Given the description of an element on the screen output the (x, y) to click on. 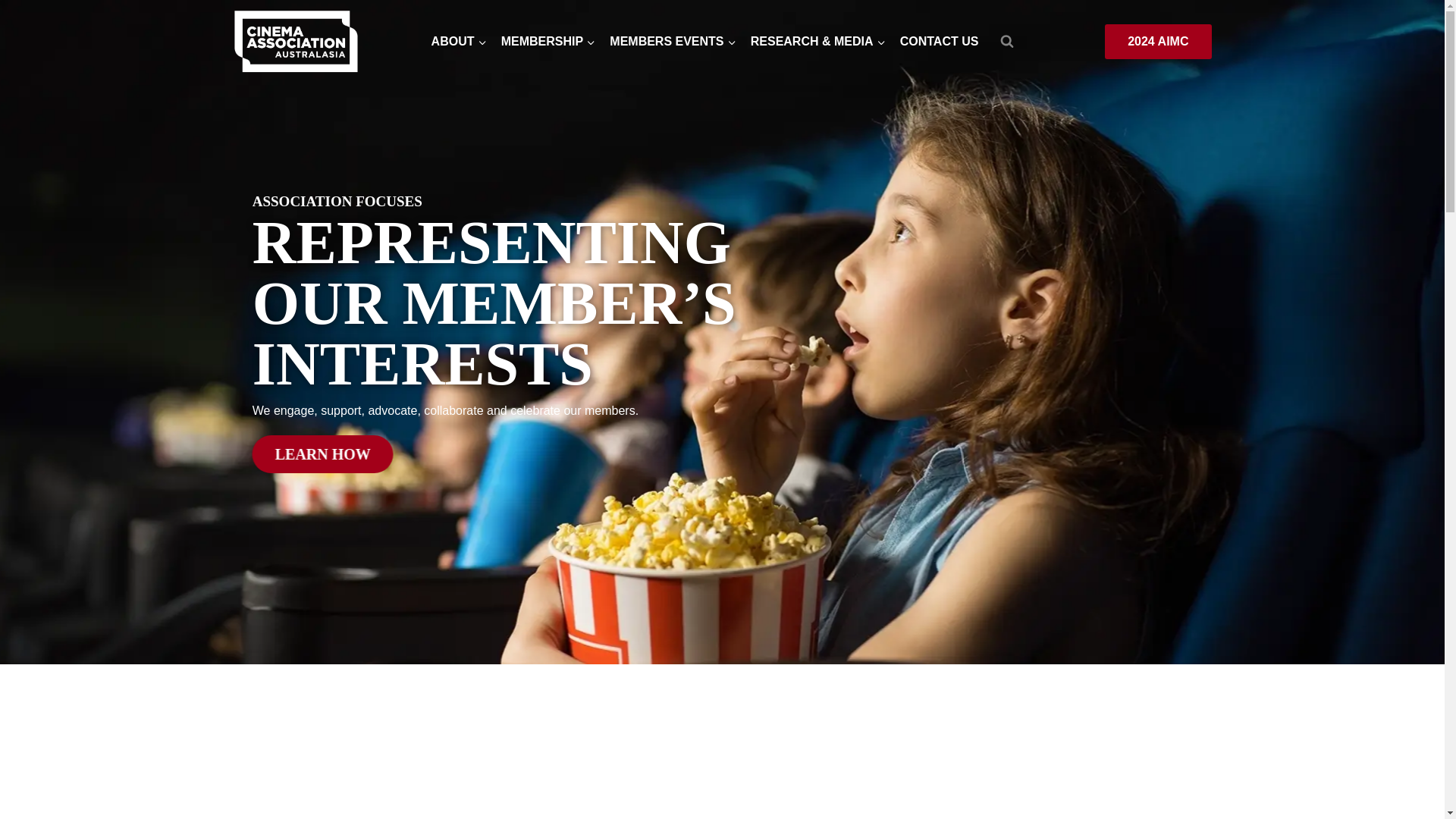
MEMBERS EVENTS (672, 41)
CONTACT US (938, 41)
LEARN HOW (322, 453)
2024 AIMC (1158, 41)
ABOUT (458, 41)
MEMBERSHIP (547, 41)
